Given the description of an element on the screen output the (x, y) to click on. 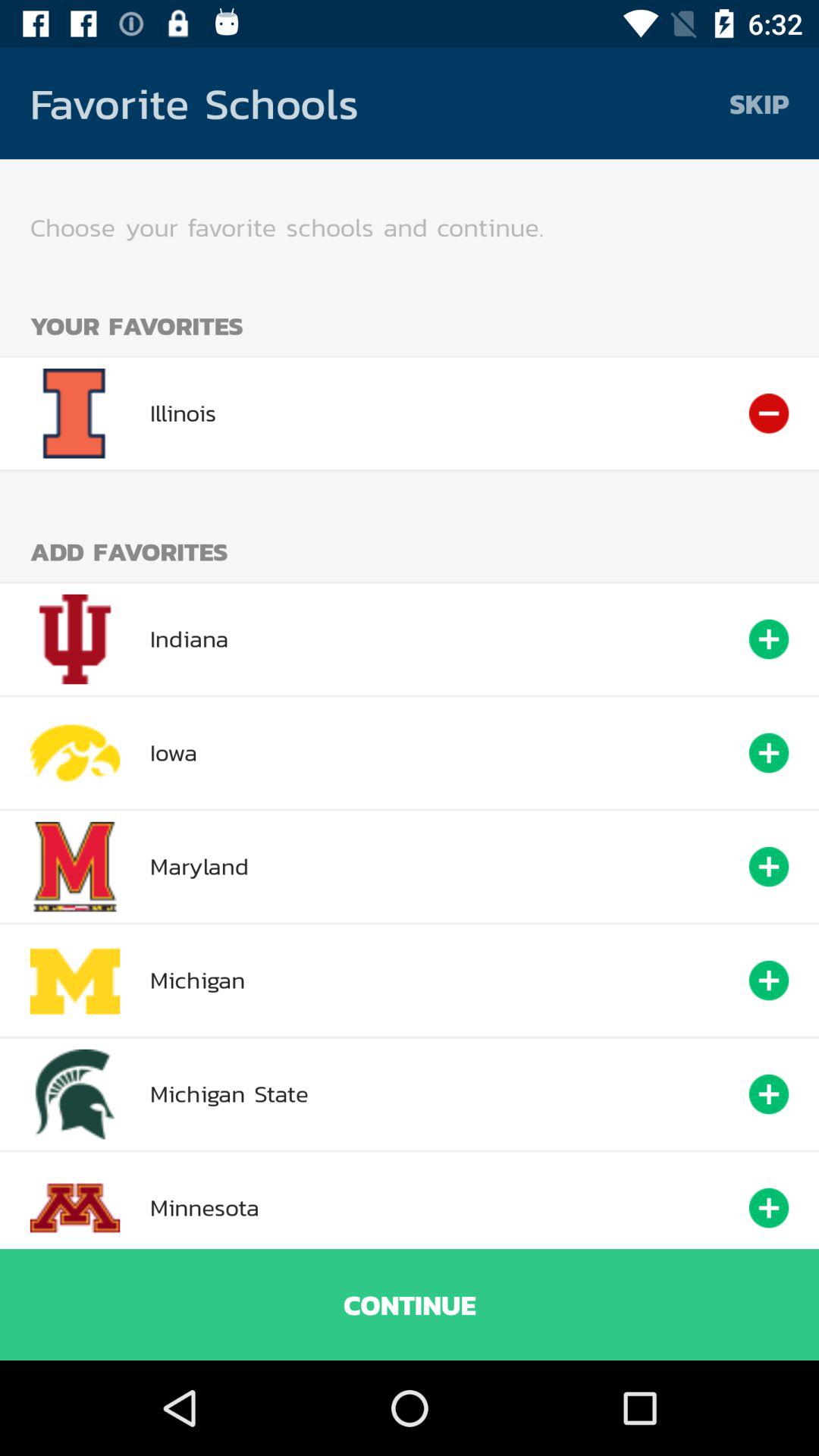
tap the item above choose your favorite item (758, 103)
